Given the description of an element on the screen output the (x, y) to click on. 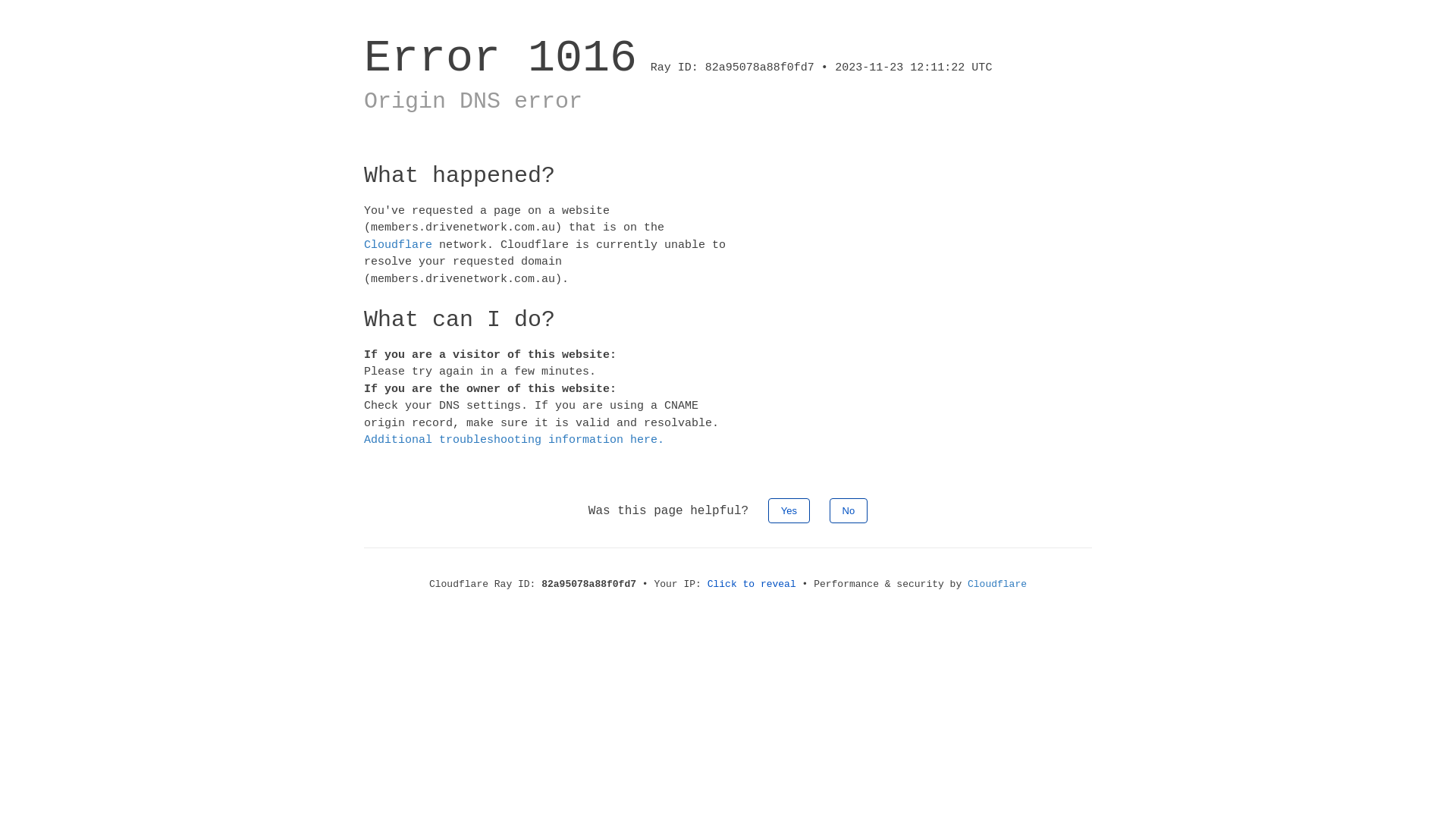
Cloudflare Element type: text (398, 244)
Additional troubleshooting information here. Element type: text (514, 439)
Cloudflare Element type: text (996, 583)
Click to reveal Element type: text (751, 583)
Yes Element type: text (788, 509)
No Element type: text (848, 509)
